Given the description of an element on the screen output the (x, y) to click on. 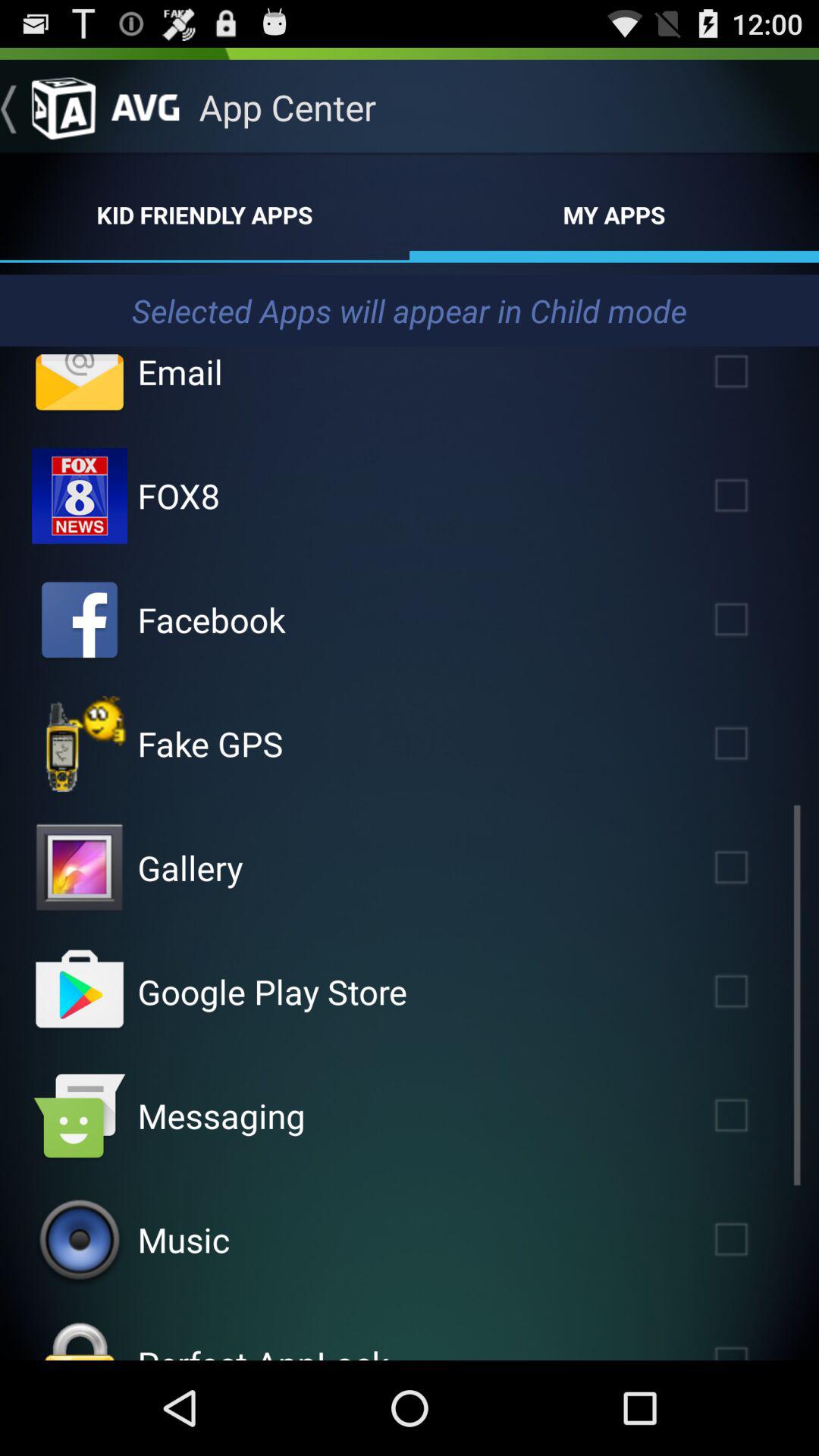
function selector (753, 495)
